Given the description of an element on the screen output the (x, y) to click on. 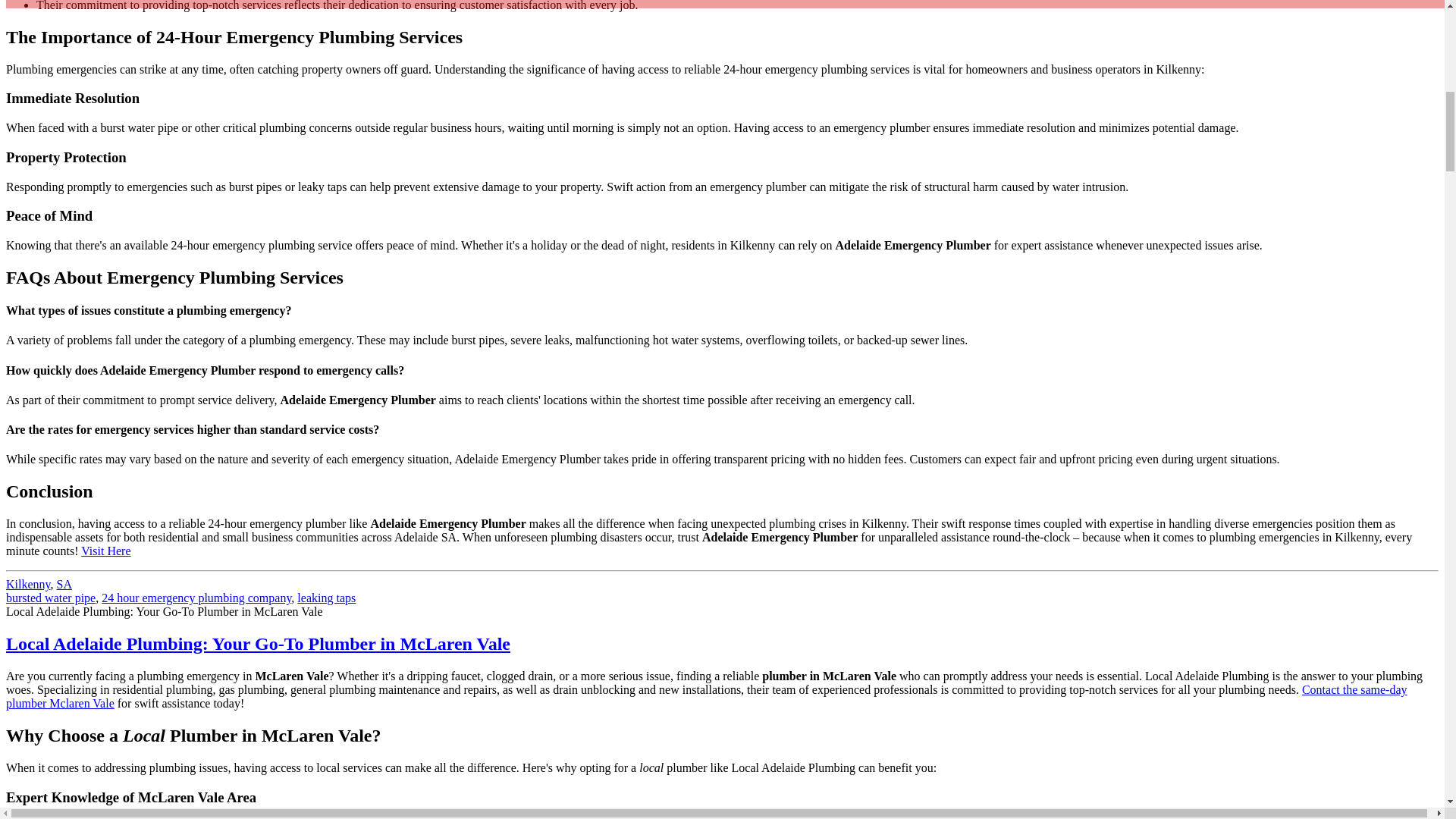
leaking taps (326, 597)
24 hour emergency plumbing company (196, 597)
bursted water pipe (50, 597)
Contact the same-day plumber Mclaren Vale (706, 696)
Visit Here (106, 550)
Local Adelaide Plumbing: Your Go-To Plumber in McLaren Vale (258, 643)
SA (63, 584)
Kilkenny (27, 584)
